Given the description of an element on the screen output the (x, y) to click on. 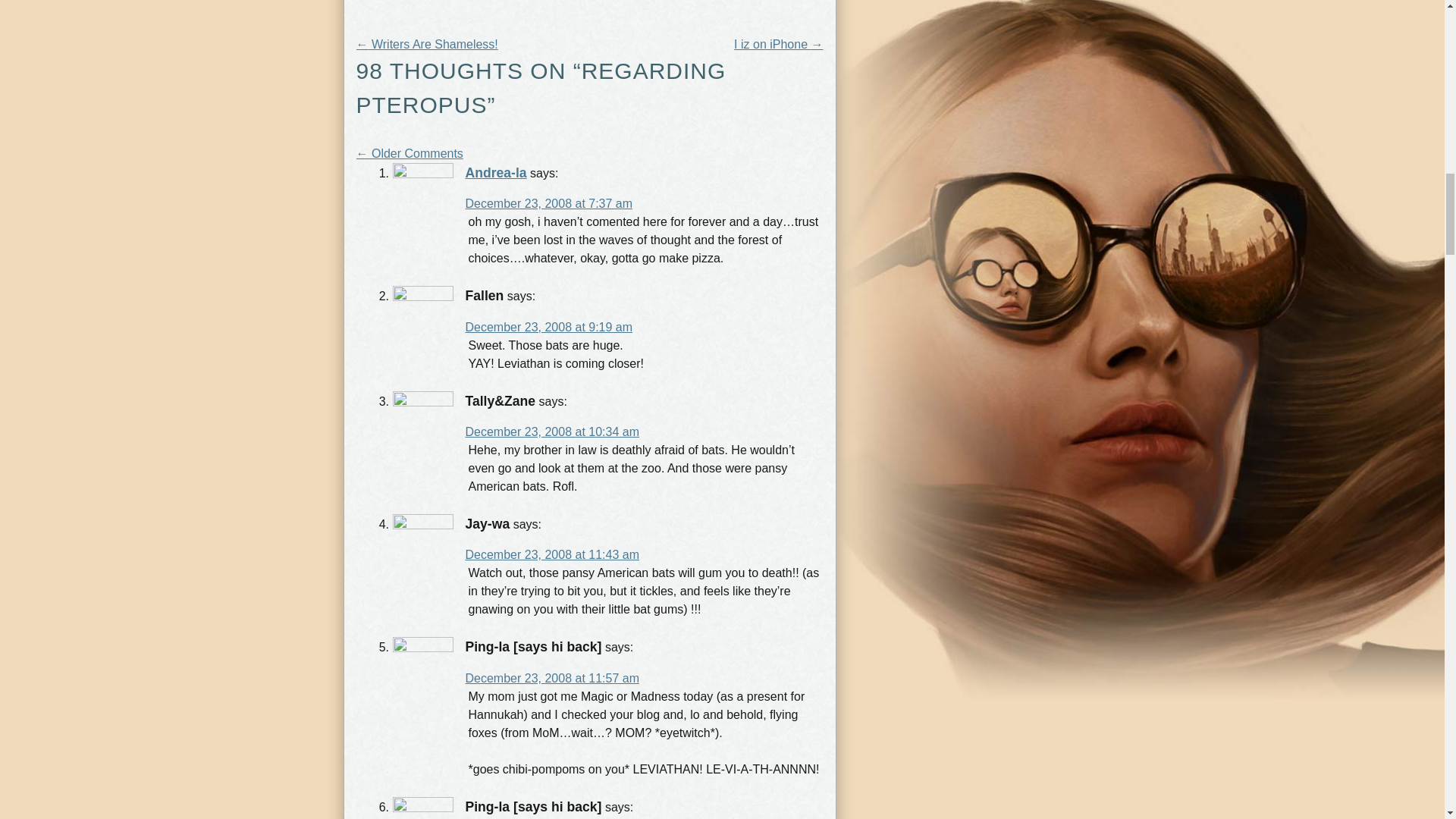
December 23, 2008 at 11:57 am (552, 677)
Andrea-la (496, 172)
December 23, 2008 at 11:43 am (552, 554)
December 23, 2008 at 10:34 am (552, 431)
December 23, 2008 at 9:19 am (549, 327)
December 23, 2008 at 7:37 am (549, 203)
